Given the description of an element on the screen output the (x, y) to click on. 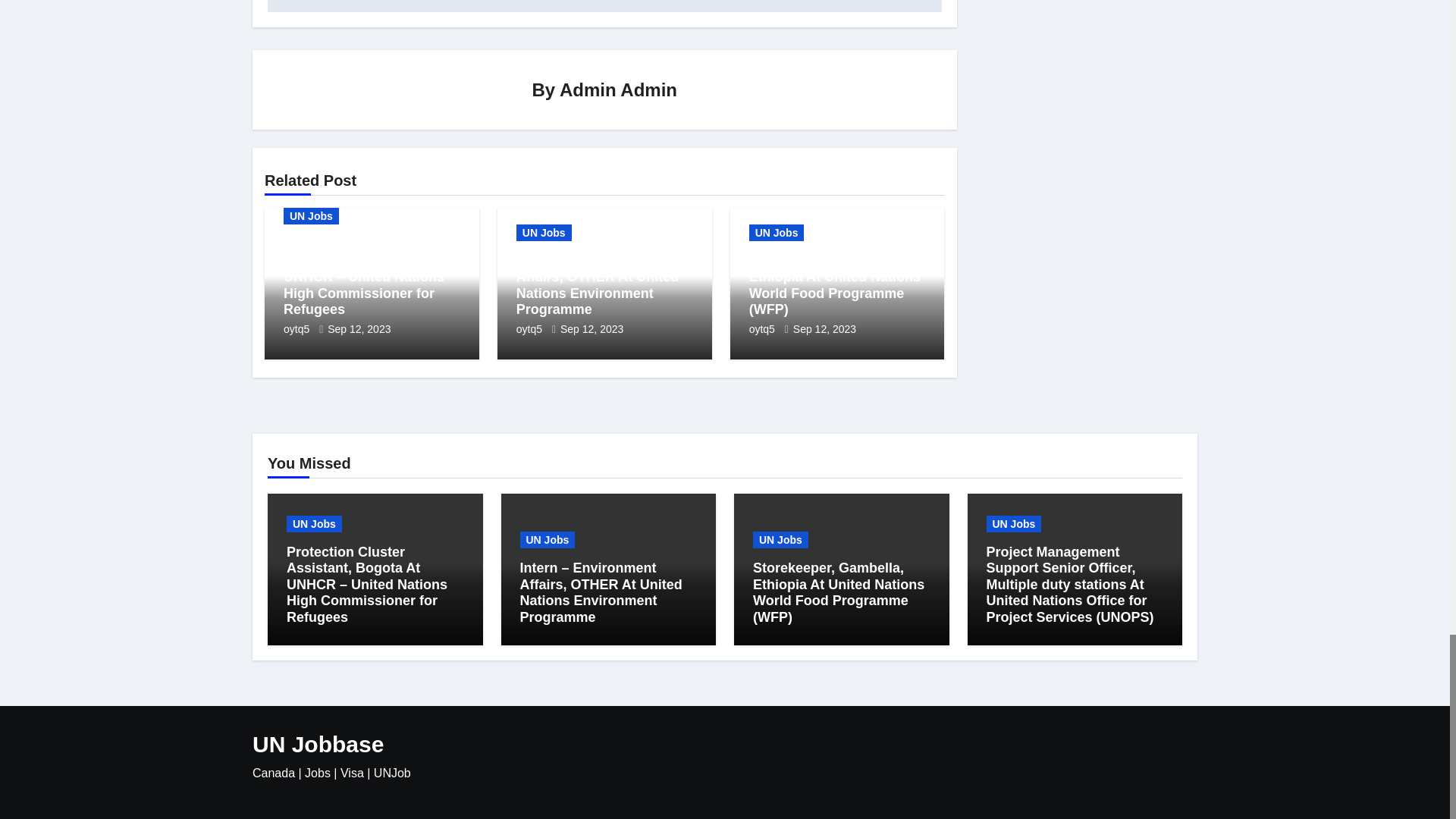
UN Jobs (311, 216)
UN Jobs (777, 232)
oytq5 (298, 328)
oytq5 (530, 328)
Sep 12, 2023 (591, 328)
UN Jobs (544, 232)
Admin Admin (618, 88)
Sep 12, 2023 (358, 328)
